Given the description of an element on the screen output the (x, y) to click on. 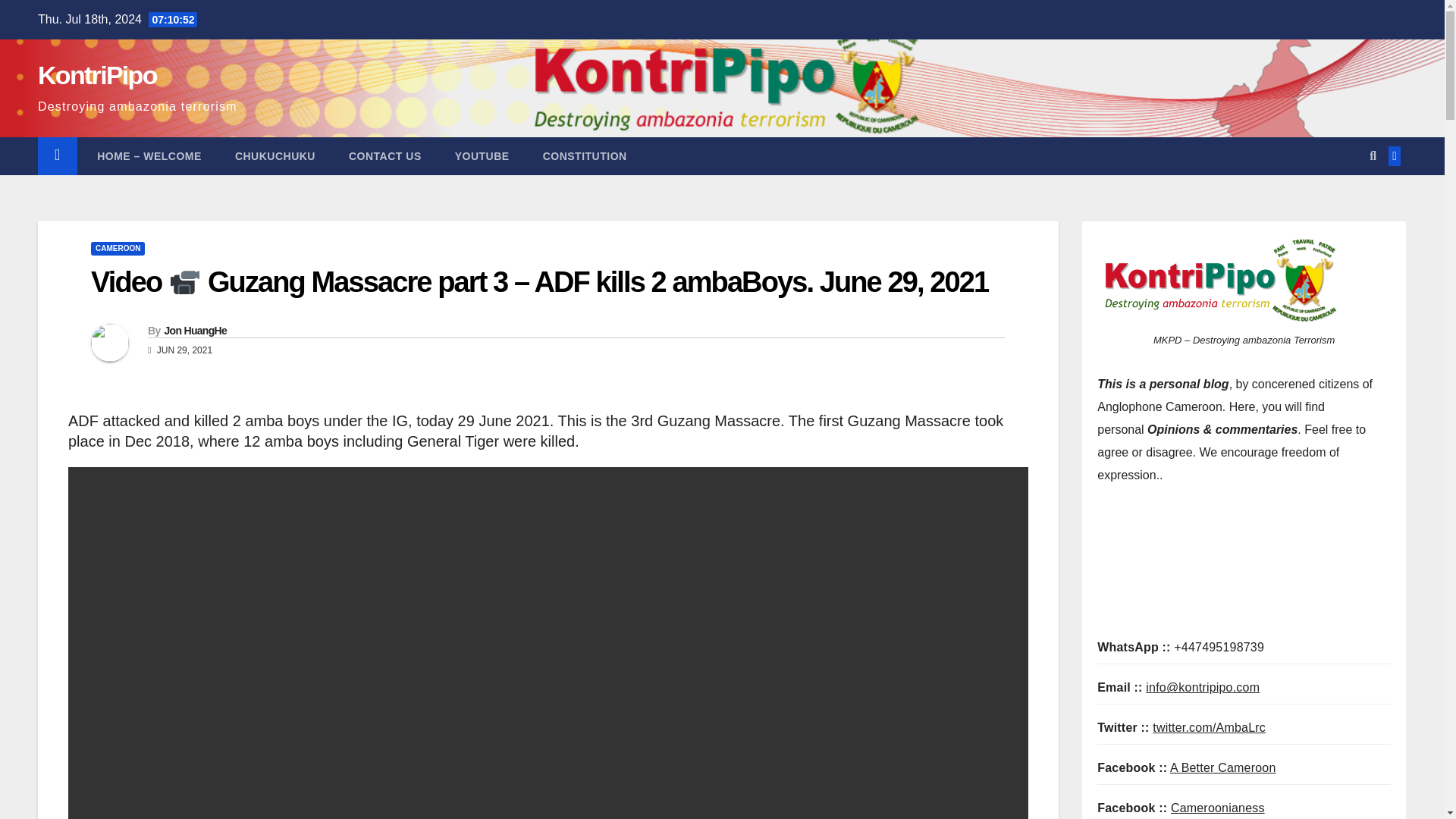
YouTube (481, 156)
Jon HuangHe (195, 330)
KontriPipo (97, 74)
CONTACT US (384, 156)
Welcome to the home of Commonsense (147, 156)
Contact us (384, 156)
CHUKUCHUKU (274, 156)
Chukuchuku (274, 156)
YOUTUBE (481, 156)
CONSTITUTION (584, 156)
CAMEROON (117, 248)
Constitution (584, 156)
